Given the description of an element on the screen output the (x, y) to click on. 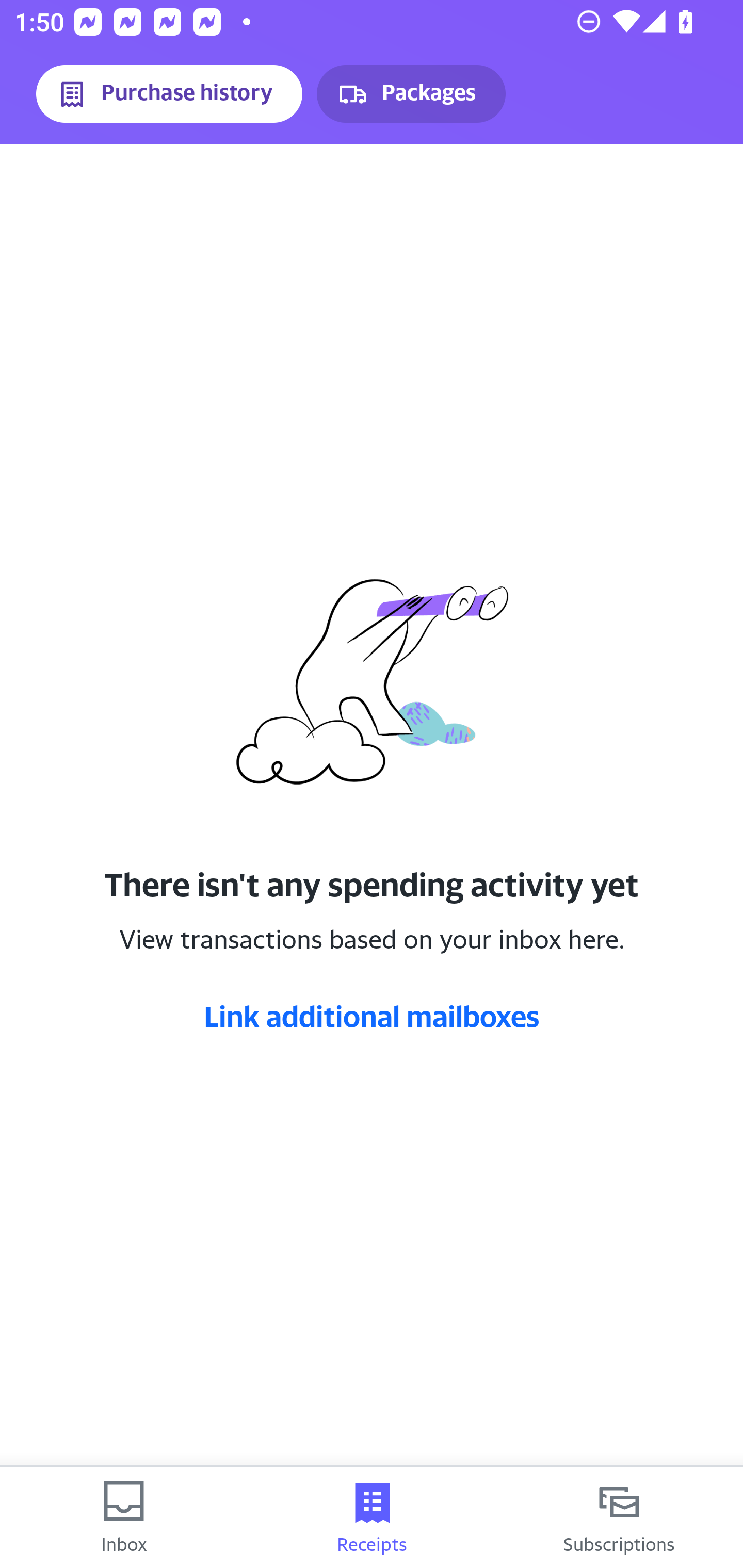
Packages (410, 93)
Link additional mailboxes (371, 1015)
Inbox (123, 1517)
Receipts (371, 1517)
Subscriptions (619, 1517)
